Given the description of an element on the screen output the (x, y) to click on. 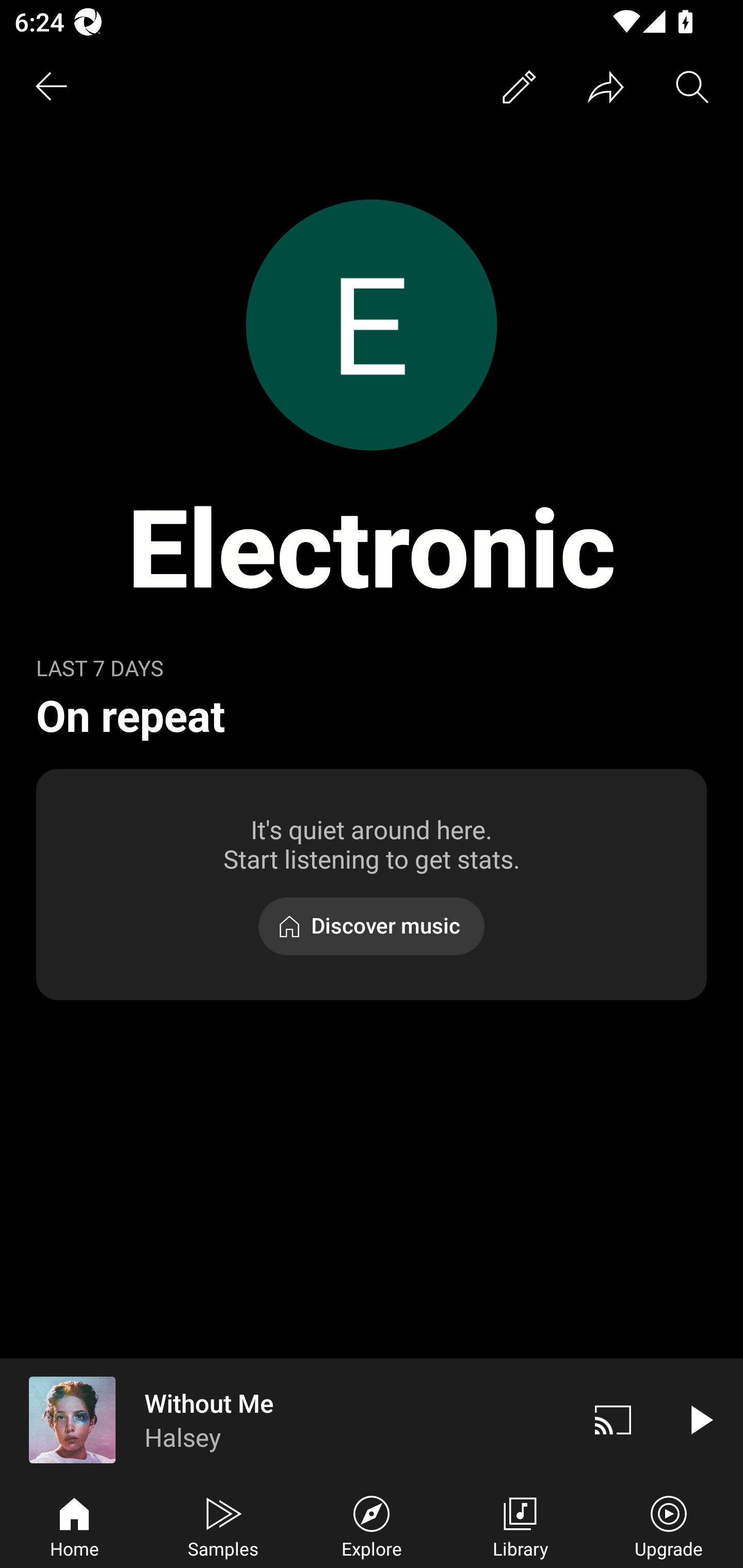
Back (50, 86)
Edit (518, 86)
Share (605, 86)
Search (692, 86)
Without Me Halsey (284, 1419)
Cast. Disconnected (612, 1419)
Play video (699, 1419)
Home (74, 1524)
Samples (222, 1524)
Explore (371, 1524)
Library (519, 1524)
Upgrade (668, 1524)
